Given the description of an element on the screen output the (x, y) to click on. 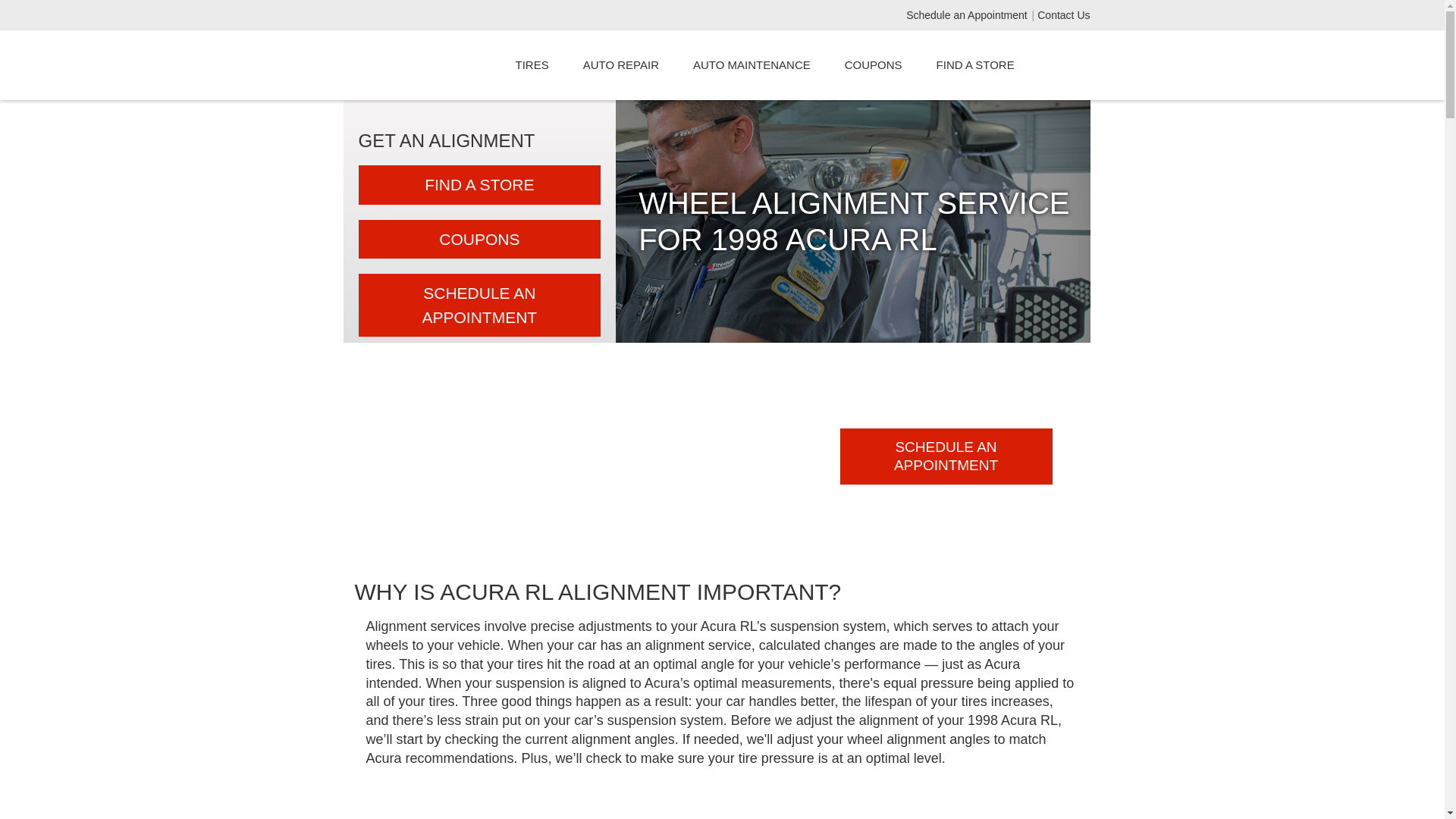
Alignment services (422, 626)
AUTO REPAIR (620, 65)
TIRES (531, 65)
AUTO MAINTENANCE (751, 65)
Firestone Complete Auto Care (425, 64)
FIND A STORE (478, 184)
Contact Us (1062, 15)
COUPONS (478, 239)
SCHEDULE AN APPOINTMENT (946, 456)
FIND A STORE (975, 65)
